Given the description of an element on the screen output the (x, y) to click on. 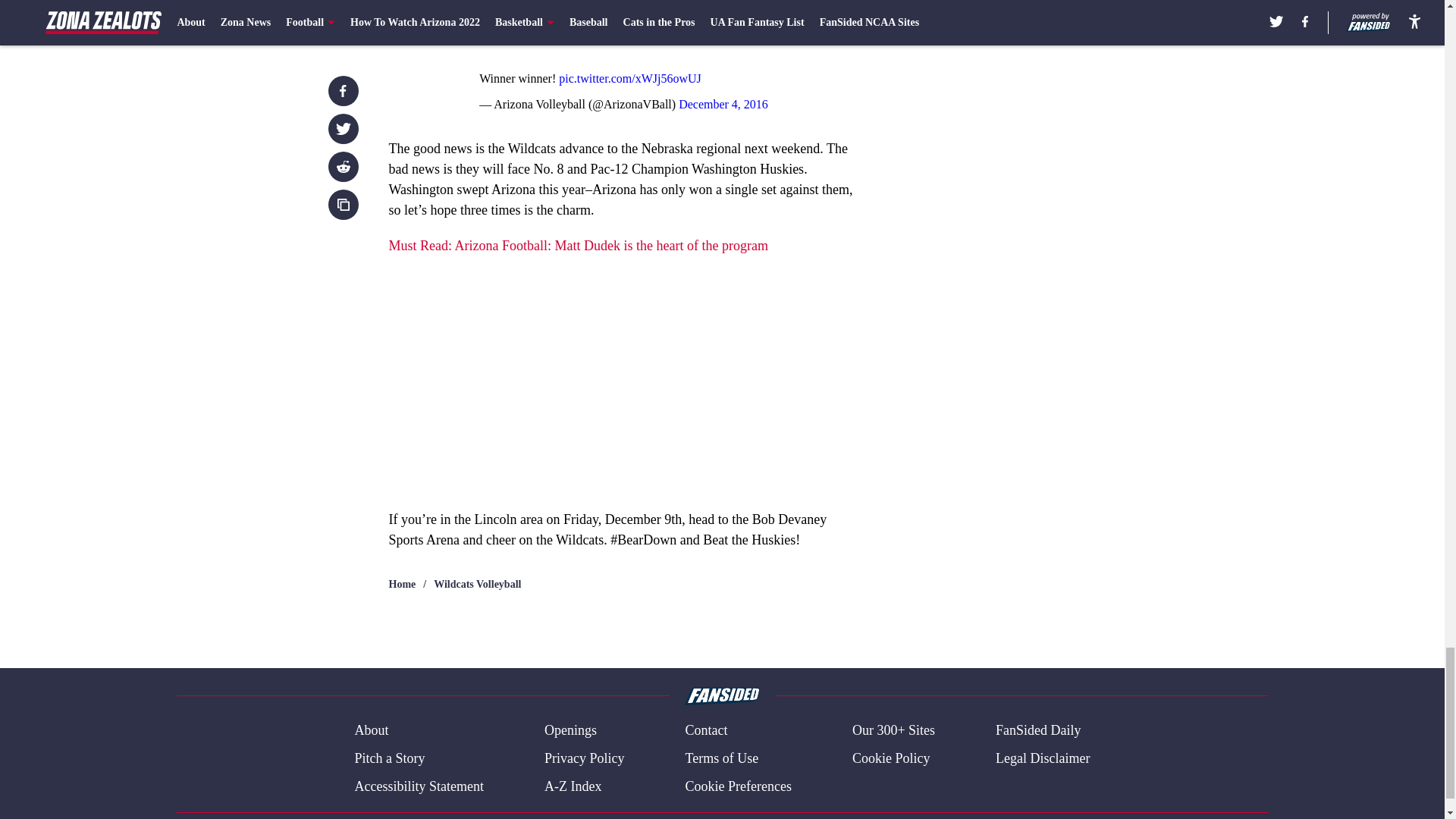
December 4, 2016 (723, 103)
Openings (570, 730)
Home (401, 584)
Wildcats Volleyball (477, 584)
About (370, 730)
